Given the description of an element on the screen output the (x, y) to click on. 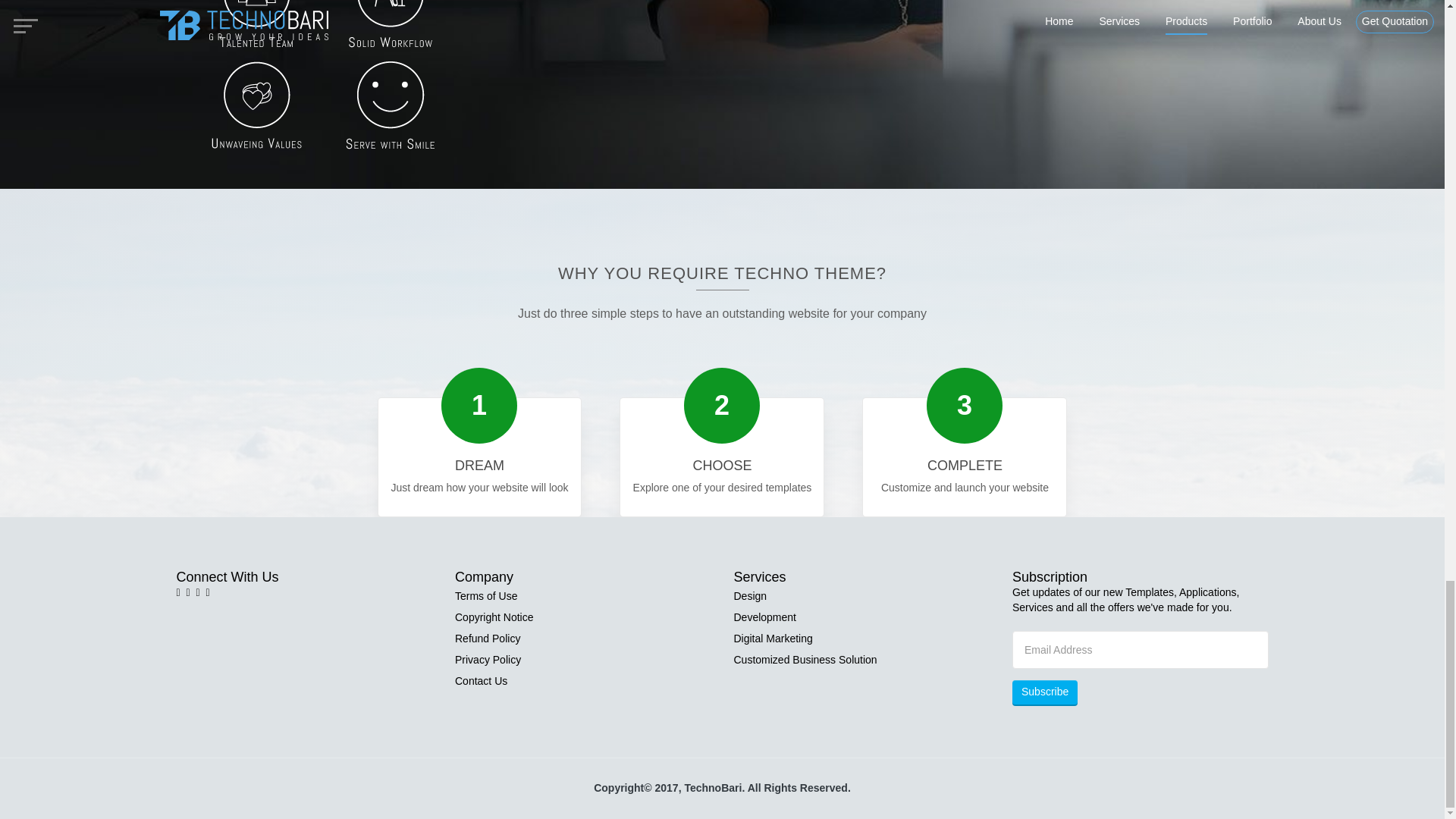
Refund Policy (486, 638)
Privacy Policy (487, 659)
Copyright Notice (494, 617)
TechnoBari (712, 787)
Subscribe (1044, 692)
Development (764, 617)
Terms of Use (485, 595)
Customized Business Solution (805, 659)
Design (750, 595)
Contact Us (480, 680)
Digital Marketing (772, 638)
